Given the description of an element on the screen output the (x, y) to click on. 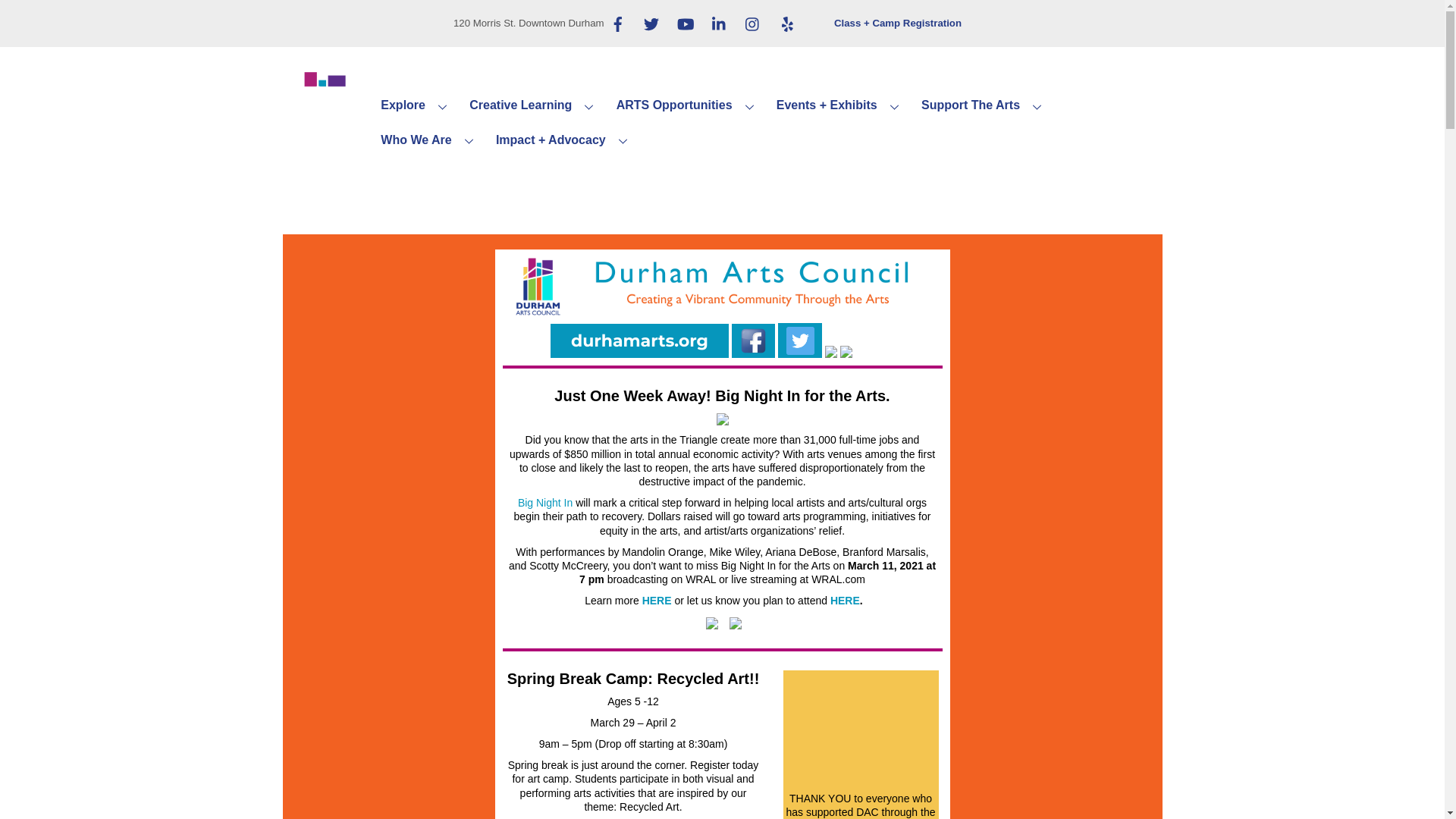
Support The Arts (984, 105)
Explore (417, 105)
ARTS Opportunities (688, 105)
Who We Are (430, 140)
Durham Arts Council (320, 161)
Creative Learning (534, 105)
